Given the description of an element on the screen output the (x, y) to click on. 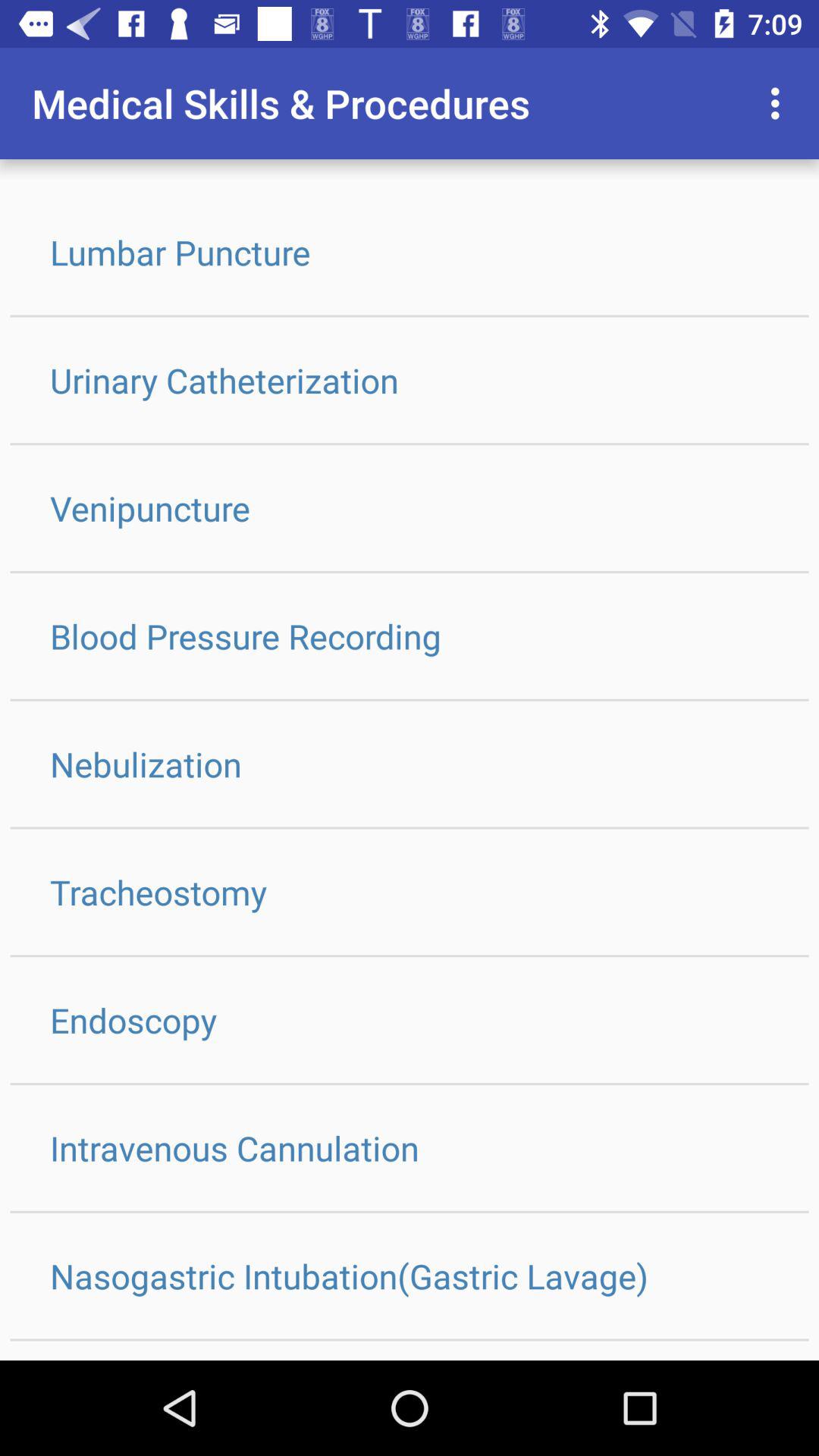
turn on the item at the top right corner (779, 103)
